Given the description of an element on the screen output the (x, y) to click on. 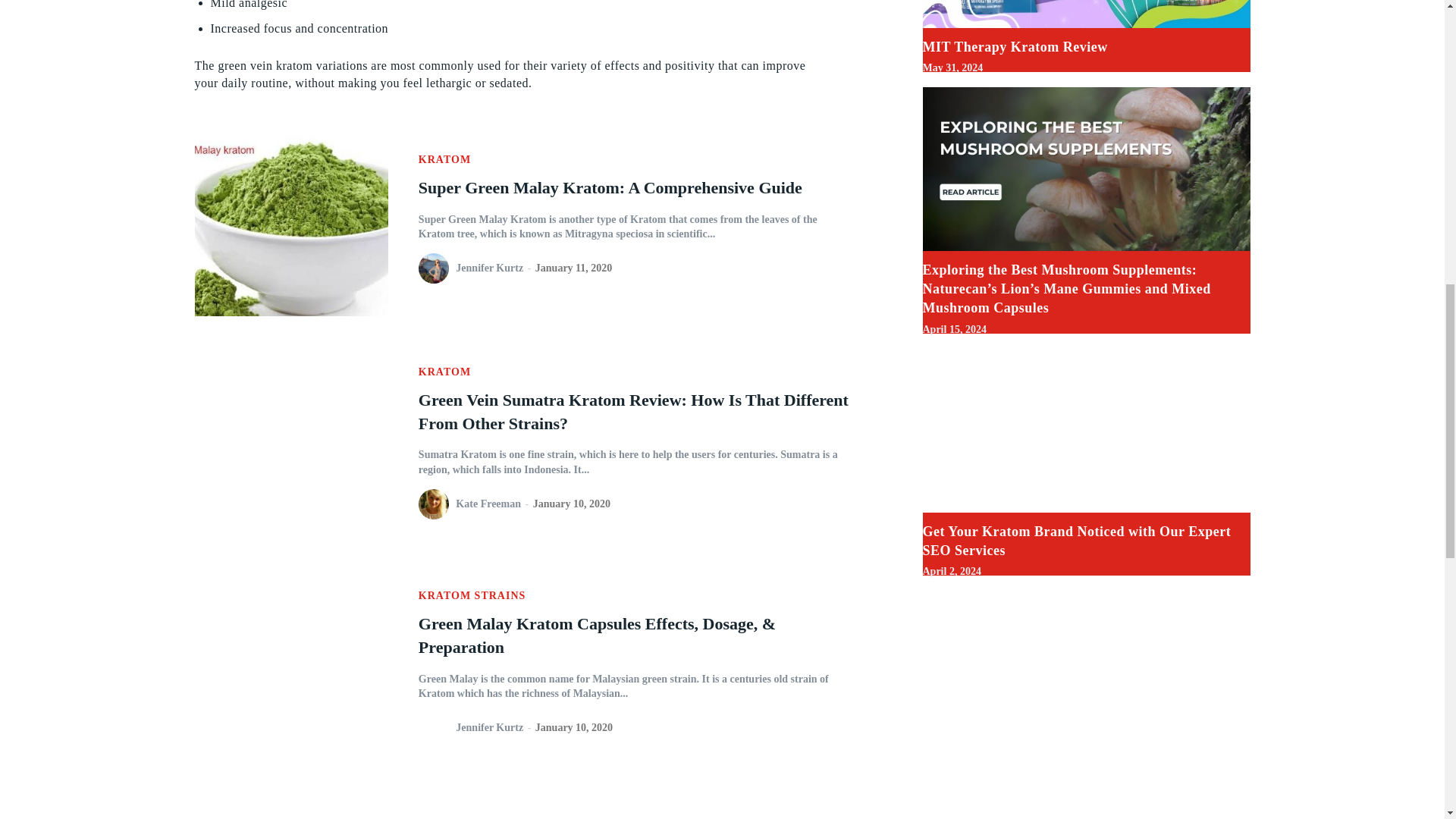
Super Green Malay Kratom: A Comprehensive Guide (610, 187)
Super Green Malay Kratom: A Comprehensive Guide (290, 218)
